Given the description of an element on the screen output the (x, y) to click on. 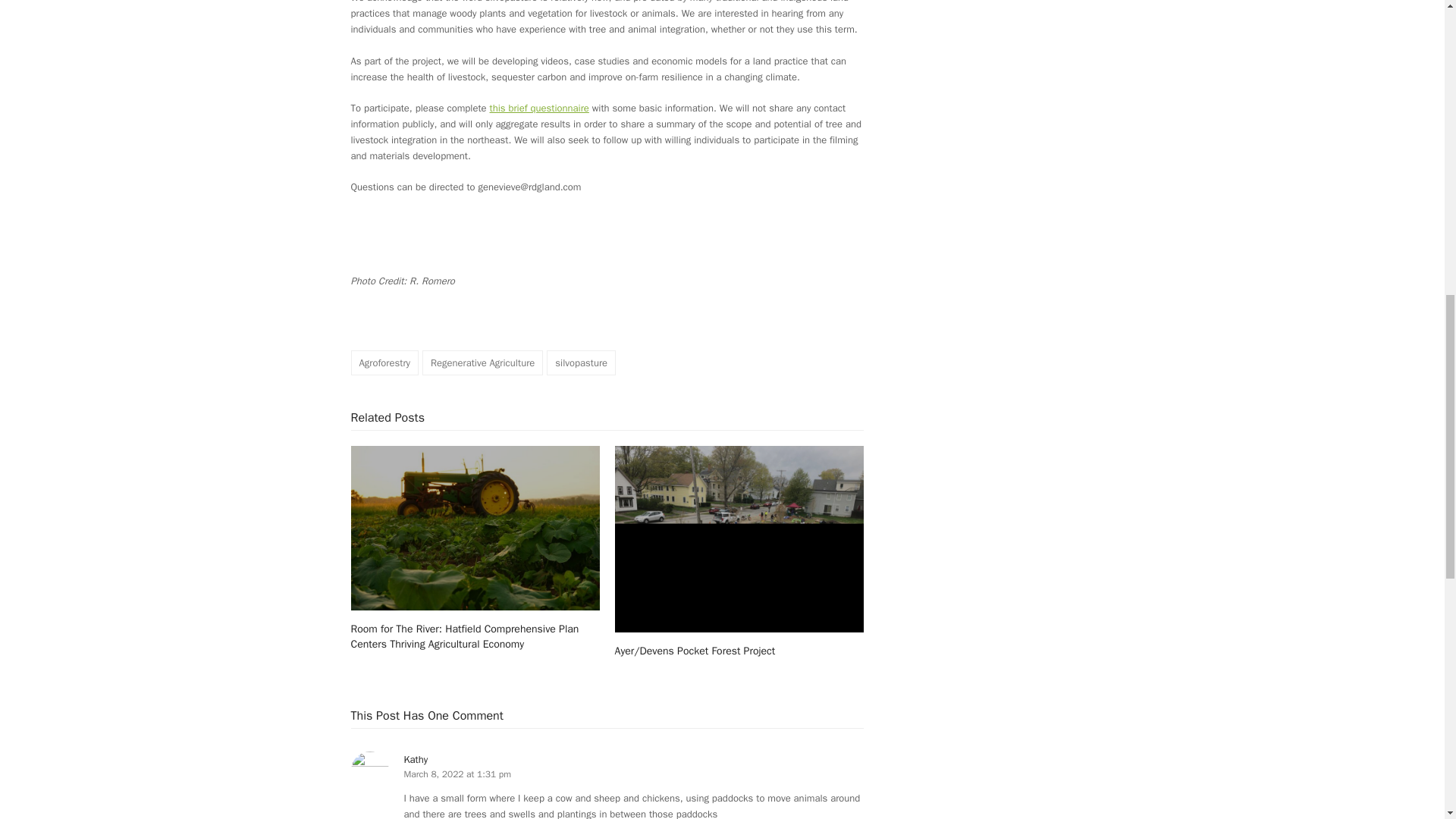
March 8, 2022 at 1:31 pm (457, 774)
silvopasture (581, 362)
Regenerative Agriculture (482, 362)
this brief questionnaire (539, 107)
Kathy (415, 758)
Agroforestry (383, 362)
